Given the description of an element on the screen output the (x, y) to click on. 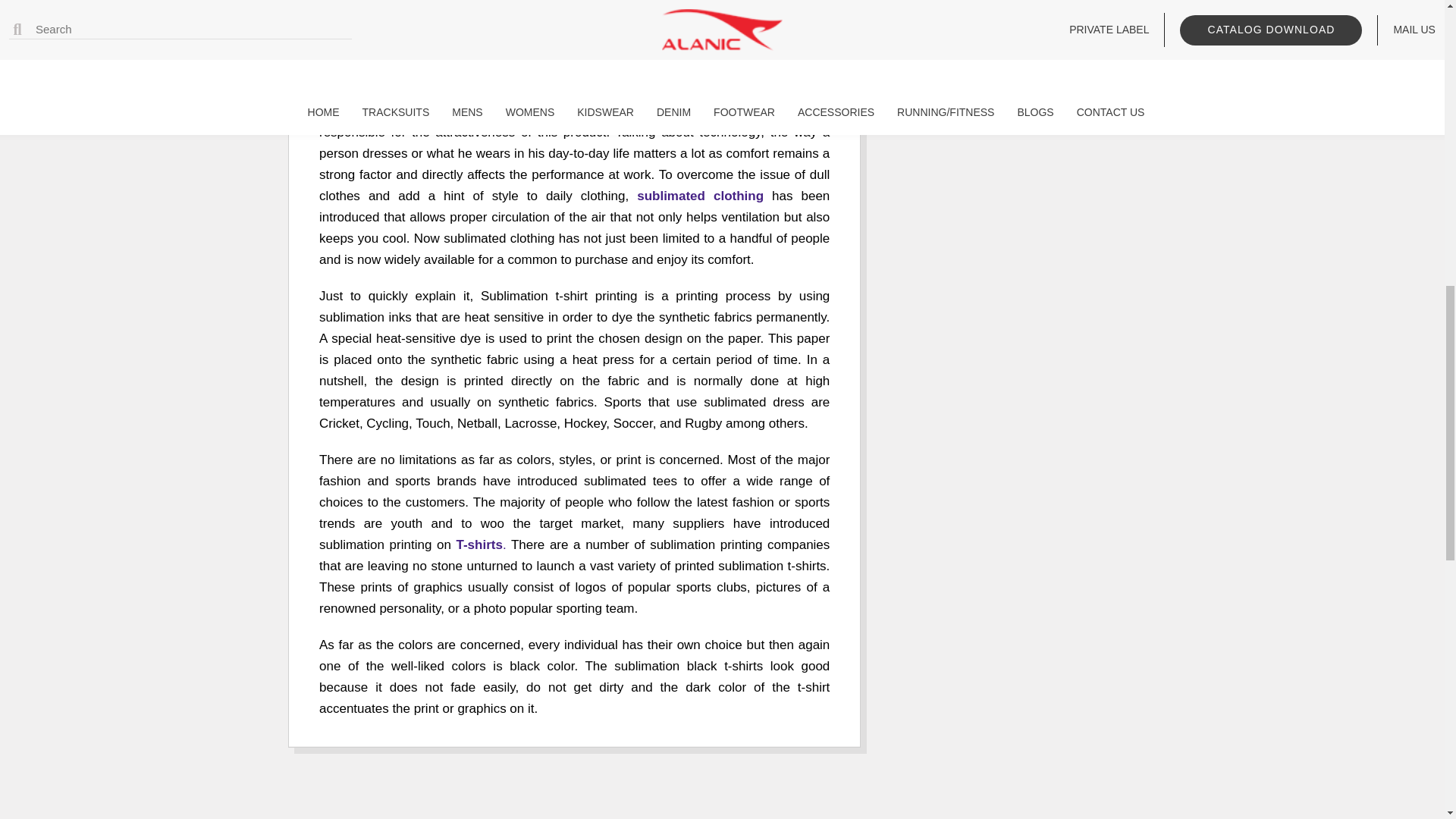
sublimated tees (699, 196)
sublimated clothing (699, 196)
Alanic (581, 43)
T-shirts. (478, 544)
